Given the description of an element on the screen output the (x, y) to click on. 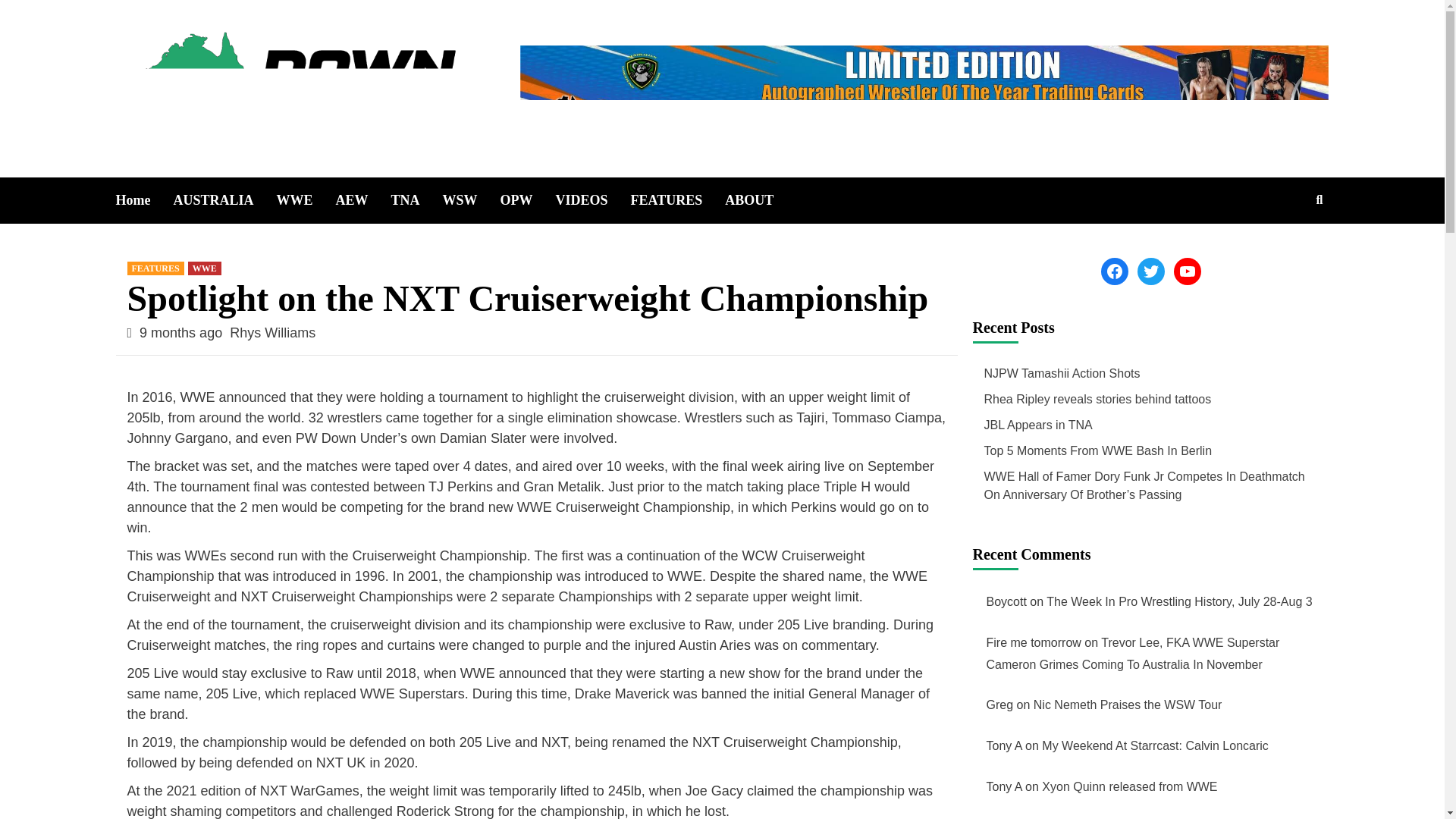
WWE (204, 268)
AUSTRALIA (224, 200)
FEATURES (156, 268)
ABOUT (760, 200)
TNA (416, 200)
Home (144, 200)
Rhys Williams (272, 332)
VIDEOS (593, 200)
WSW (471, 200)
FEATURES (677, 200)
